Given the description of an element on the screen output the (x, y) to click on. 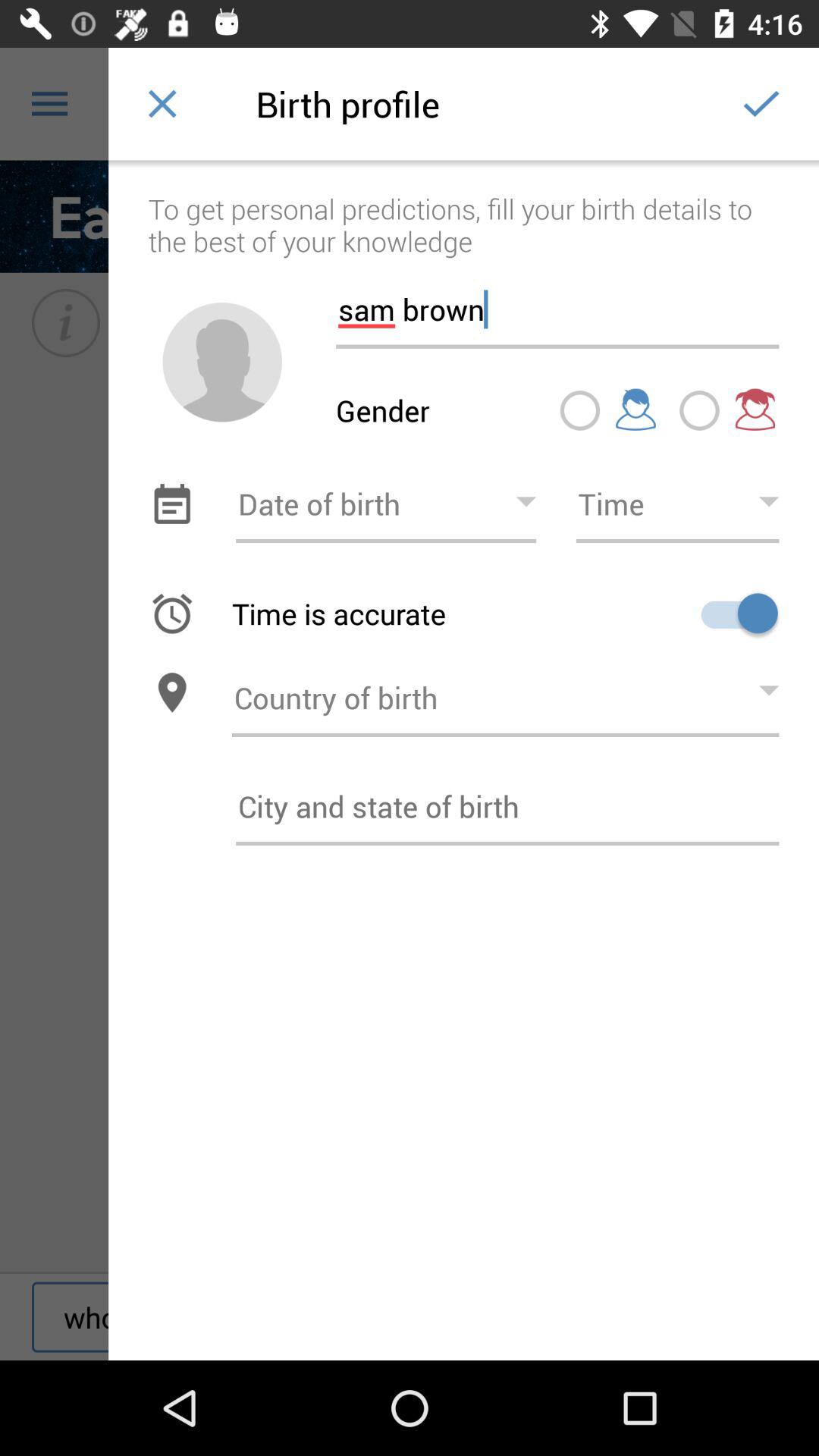
birth country location (505, 692)
